Given the description of an element on the screen output the (x, y) to click on. 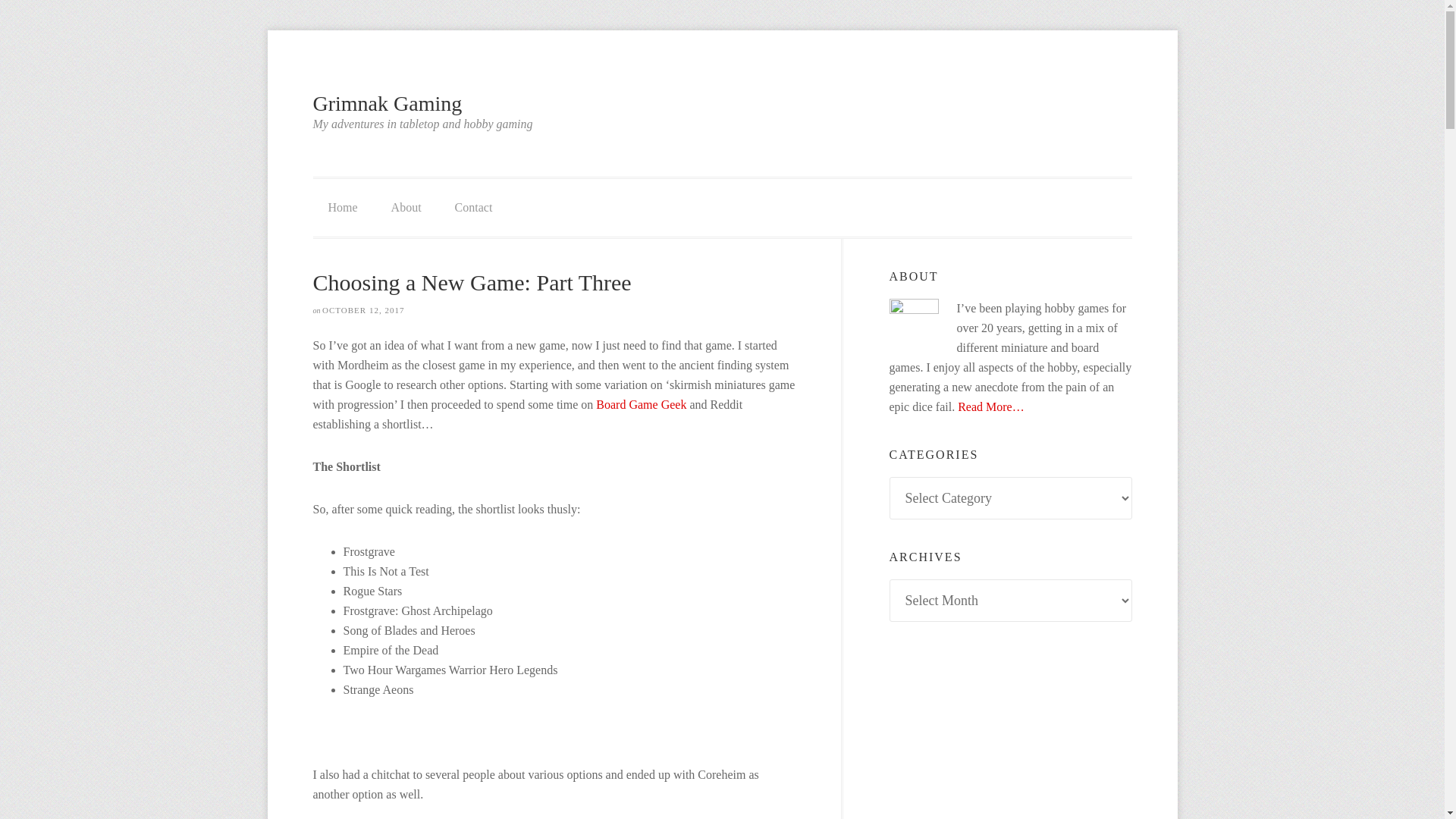
About (405, 207)
Home (342, 207)
Contact (473, 207)
Grimnak Gaming (387, 103)
Board Game Geek (641, 404)
